Given the description of an element on the screen output the (x, y) to click on. 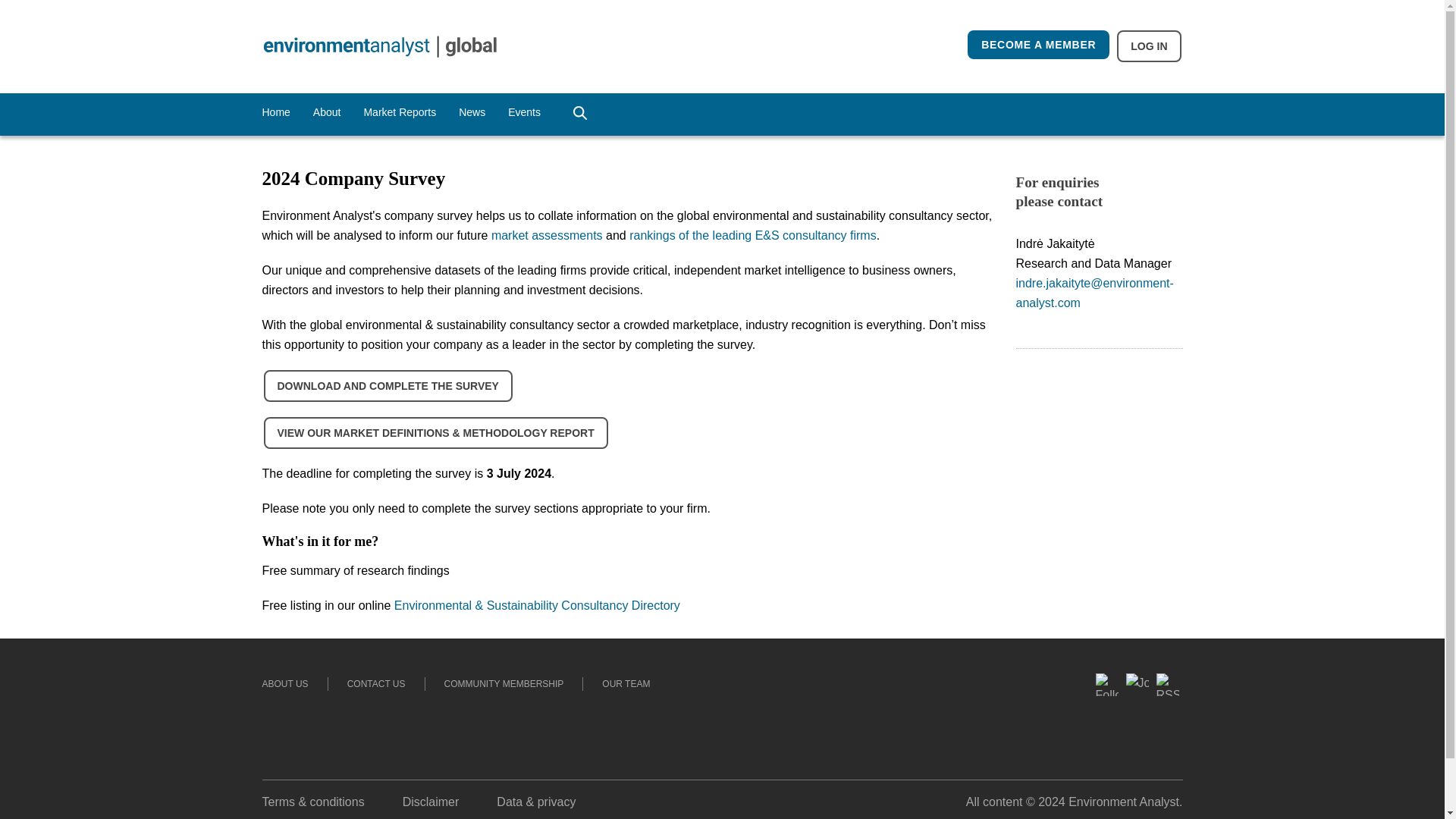
LOG IN (1148, 46)
Market Reports (398, 112)
Home (275, 112)
main navigation (86, 9)
About (326, 112)
About (326, 112)
BECOME A MEMBER (1038, 44)
RSS Feed (1167, 714)
Events (524, 112)
Events (524, 112)
Join us on LinkedIn (1137, 741)
Home (275, 112)
main content (173, 9)
market assessments (547, 235)
Follow us on Twitter (1107, 753)
